Given the description of an element on the screen output the (x, y) to click on. 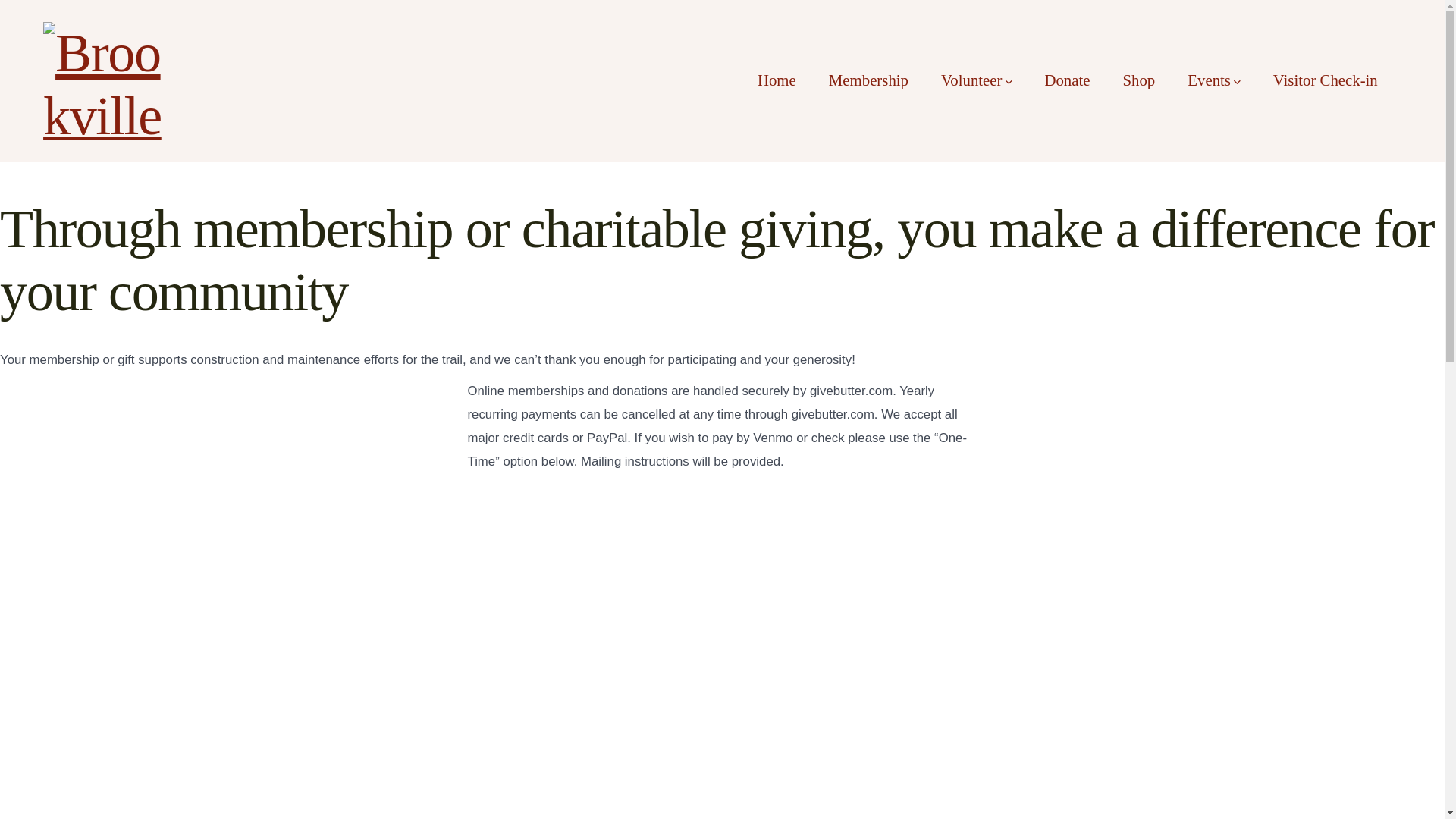
Home (776, 80)
Membership (868, 80)
Donate (1066, 80)
Volunteer (975, 80)
Shop (1138, 80)
Events (1214, 80)
Visitor Check-in (1324, 80)
